Given the description of an element on the screen output the (x, y) to click on. 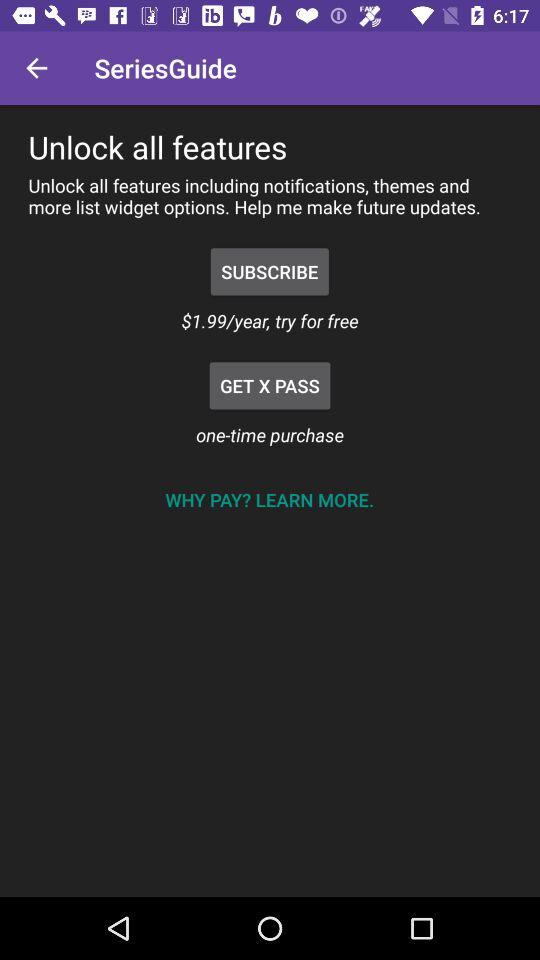
open the item above the 1 99 year item (269, 271)
